Given the description of an element on the screen output the (x, y) to click on. 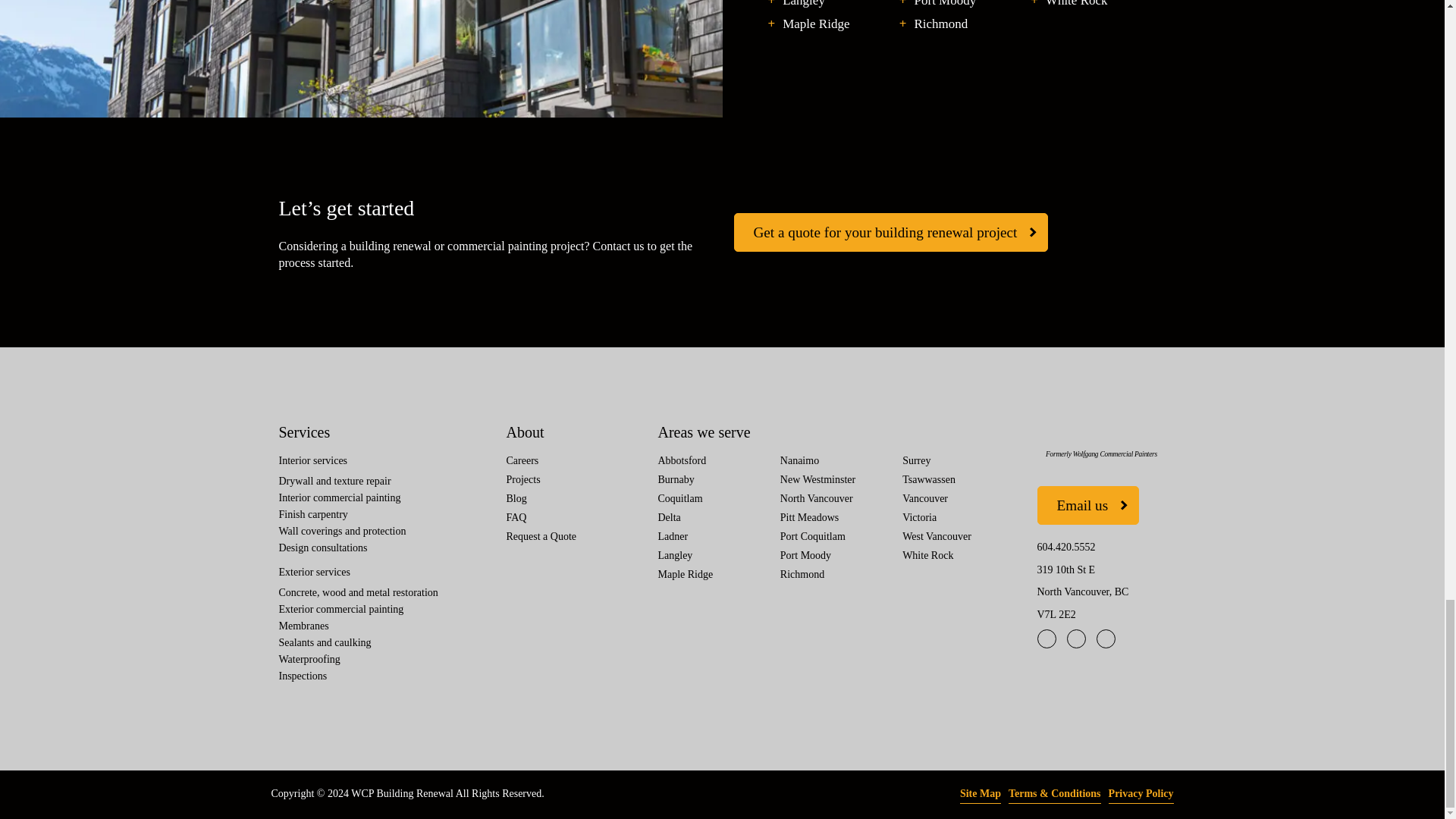
6044205552 (1066, 546)
Langley (804, 4)
Wolfgang Commercial Painters (1101, 431)
